Given the description of an element on the screen output the (x, y) to click on. 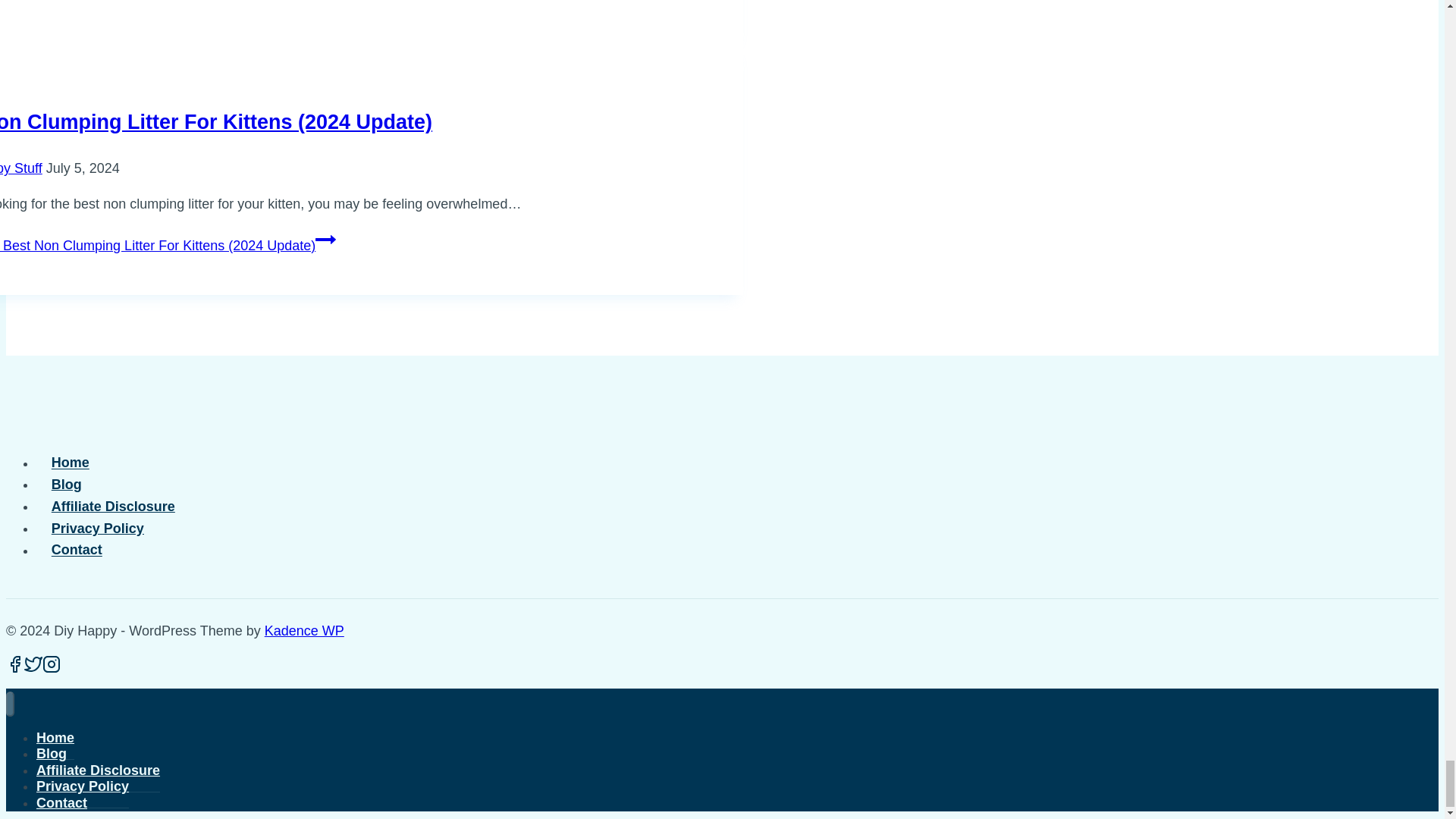
Continue (325, 239)
Facebook (14, 664)
Instagram (51, 664)
Twitter (33, 664)
